Given the description of an element on the screen output the (x, y) to click on. 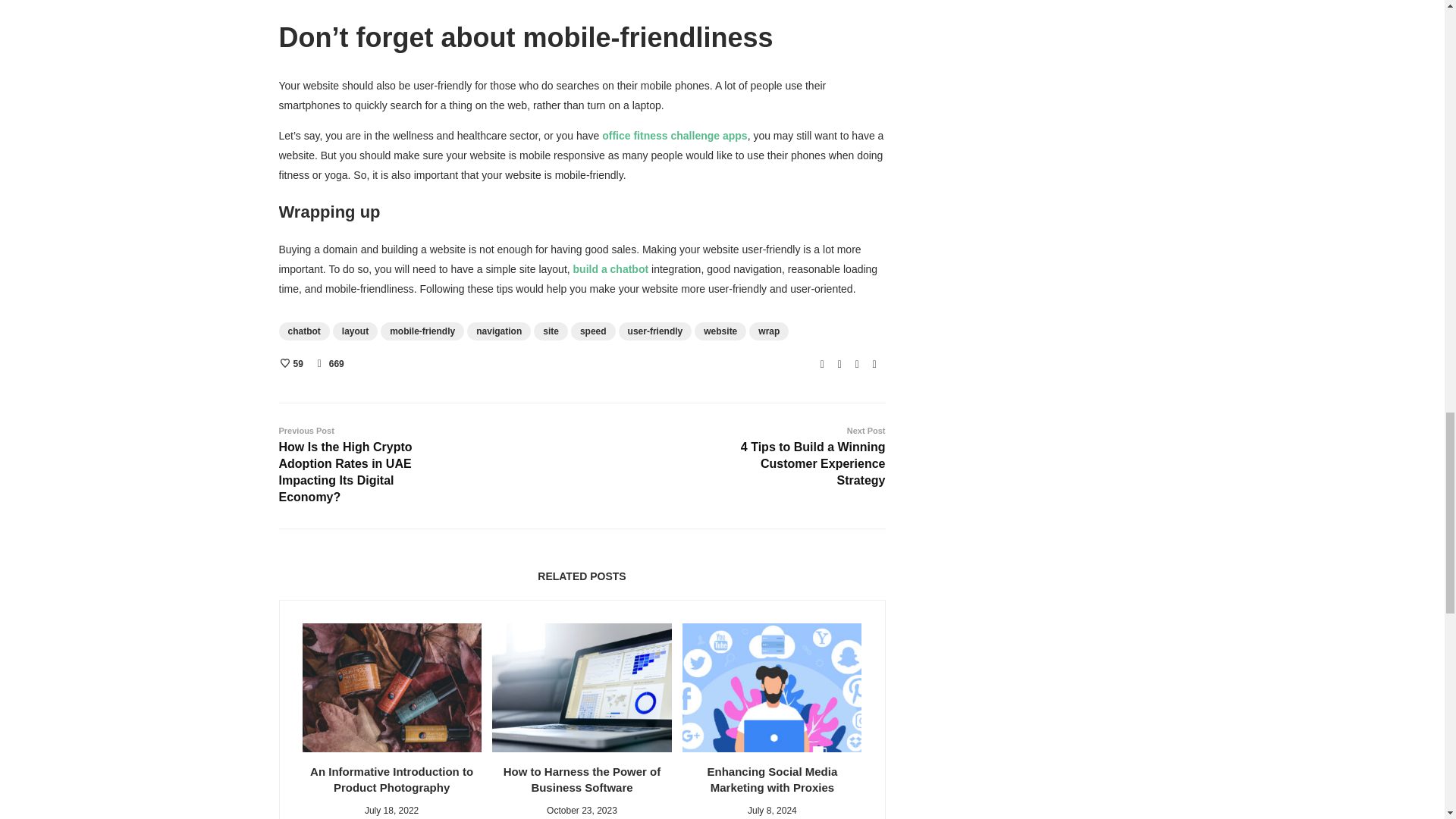
wrap (769, 331)
layout (355, 331)
build a chatbot (611, 268)
Like (289, 363)
mobile-friendly (422, 331)
office fitness challenge apps (674, 135)
site (550, 331)
user-friendly (655, 331)
669 (336, 363)
navigation (499, 331)
speed (592, 331)
website (719, 331)
chatbot (304, 331)
